Given the description of an element on the screen output the (x, y) to click on. 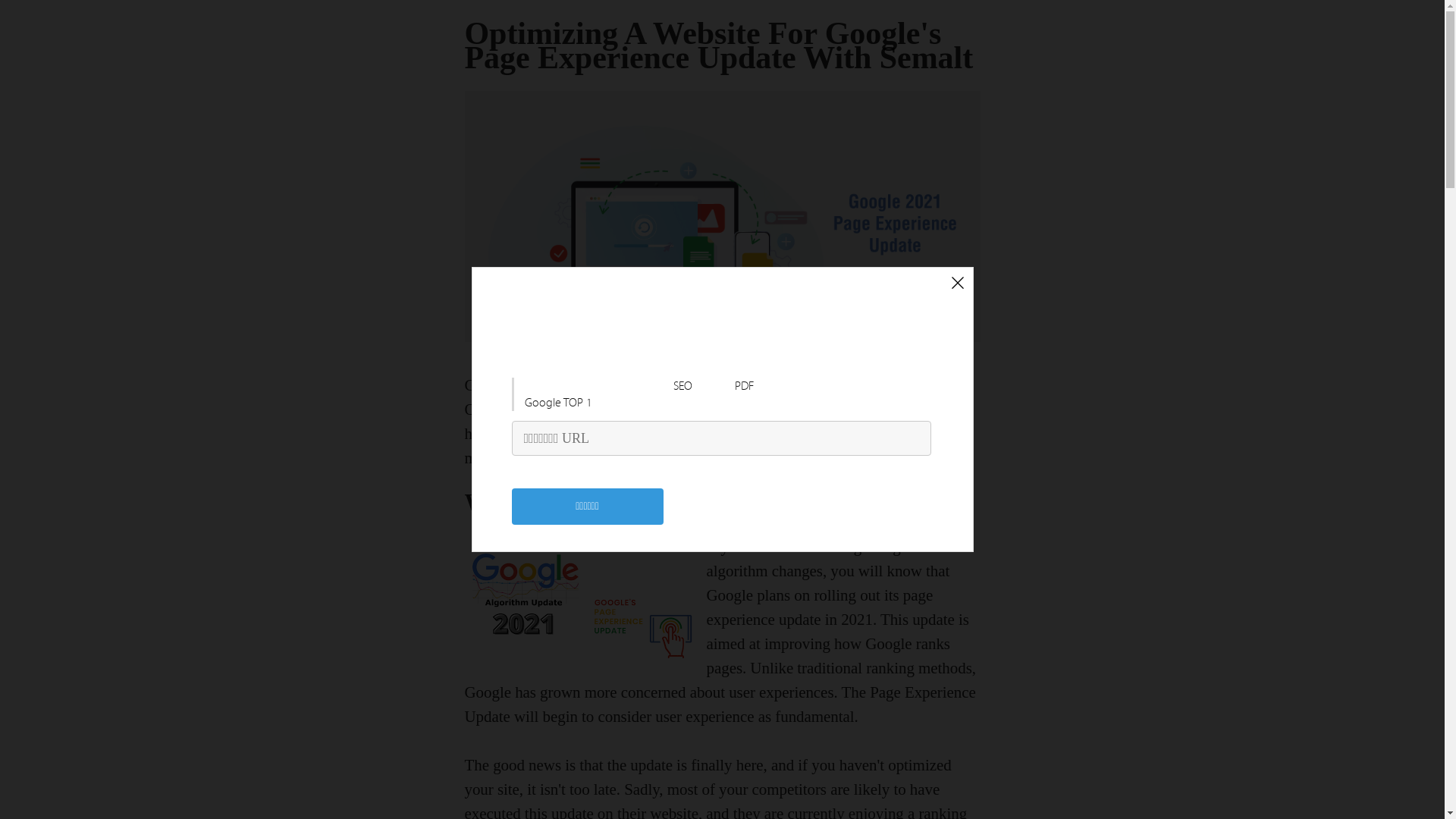
Semalt Element type: text (585, 409)
